Given the description of an element on the screen output the (x, y) to click on. 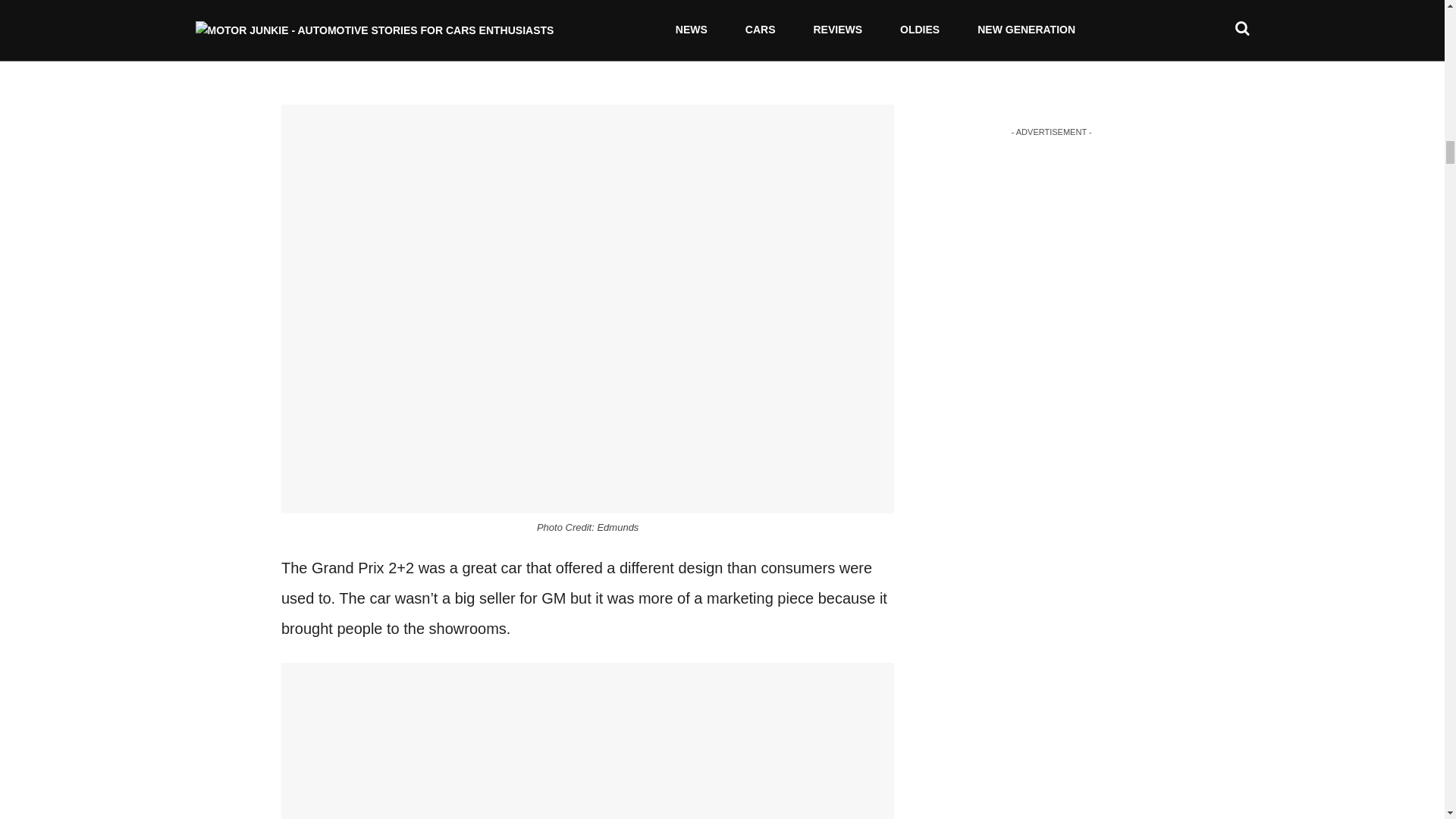
Hot Cars (766, 21)
